Given the description of an element on the screen output the (x, y) to click on. 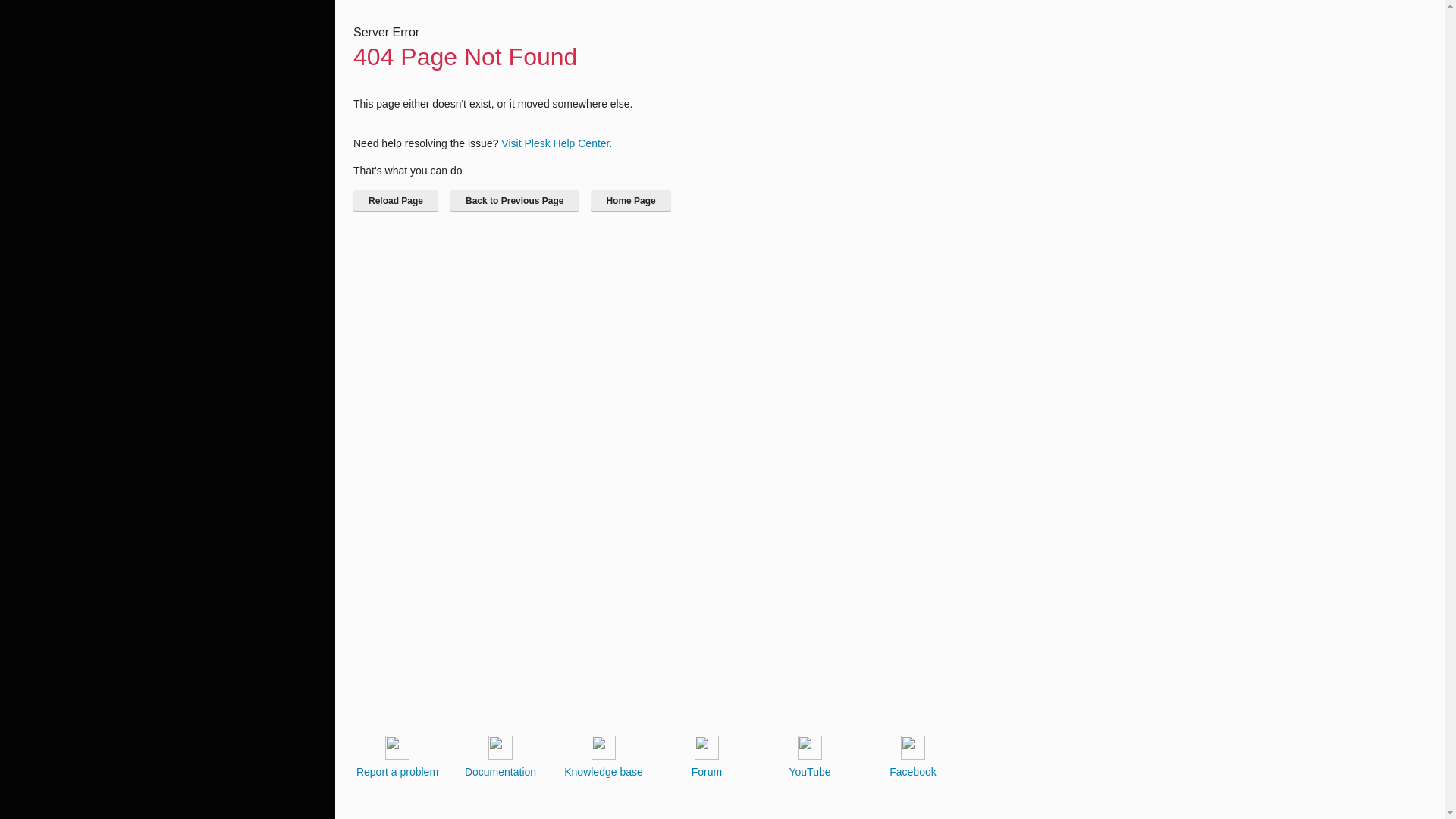
Visit Plesk Help Center. (555, 143)
Back to Previous Page (513, 200)
Documentation (500, 757)
Home Page (630, 200)
Forum (706, 757)
Reload Page (395, 200)
Facebook (912, 757)
Report a problem (397, 757)
YouTube (809, 757)
Knowledge base (603, 757)
